Given the description of an element on the screen output the (x, y) to click on. 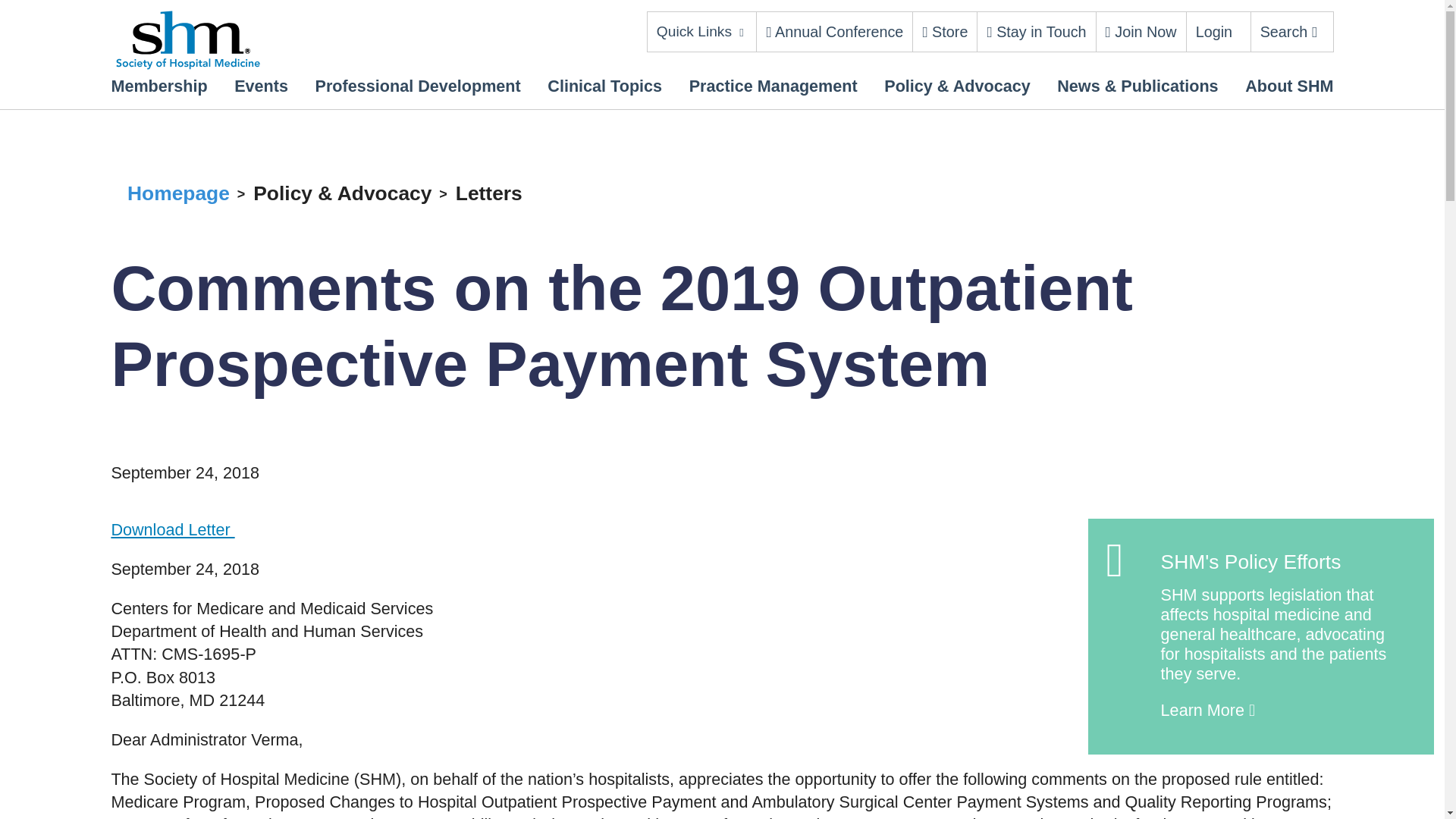
Stay in Touch (1035, 31)
Join Now (1141, 31)
Annual Conference (834, 31)
Membership (158, 85)
Quick Links (702, 32)
Login (1213, 31)
Events (261, 85)
Store (944, 31)
